Given the description of an element on the screen output the (x, y) to click on. 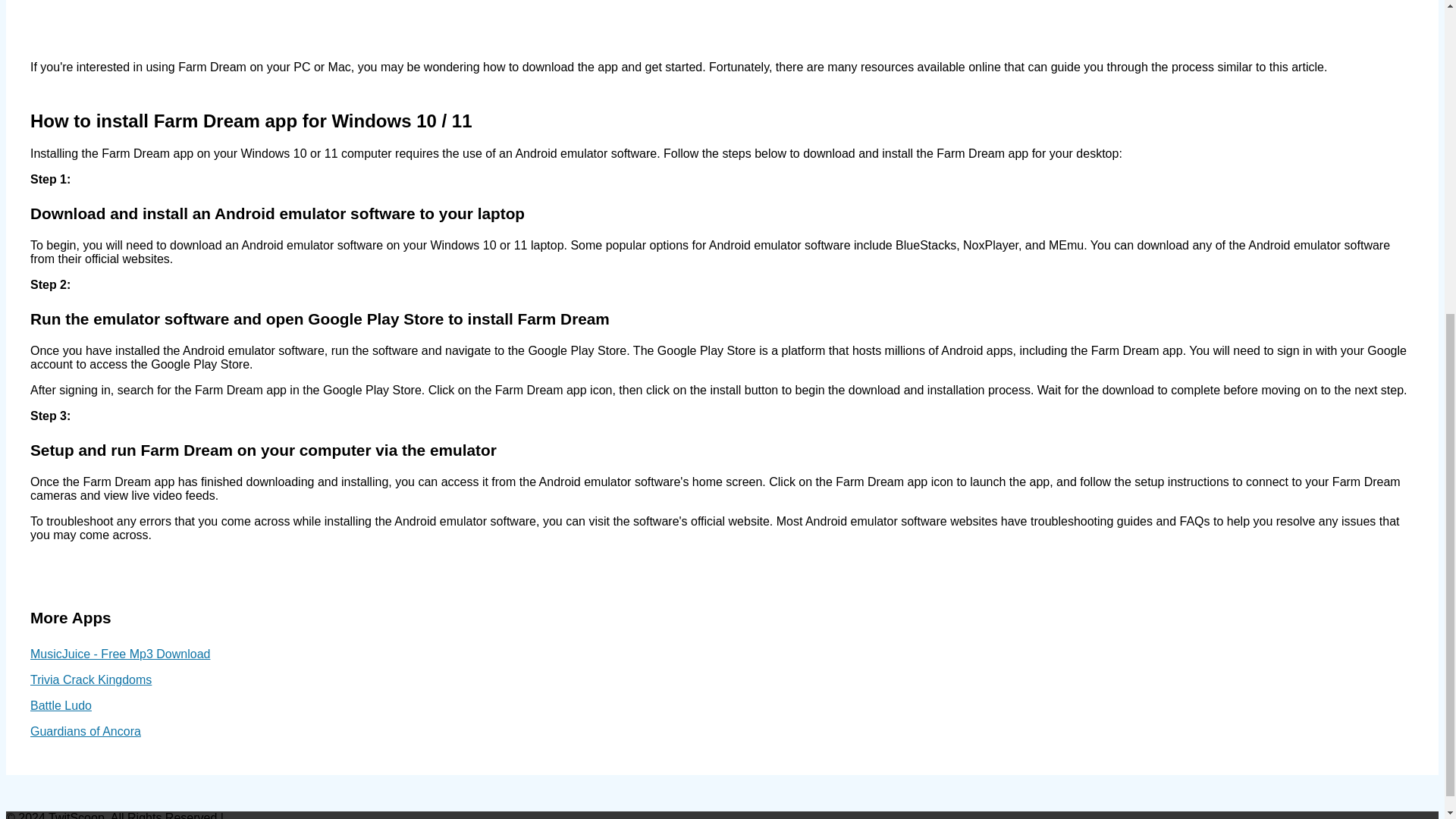
Trivia Crack Kingdoms (90, 679)
Guardians of Ancora (85, 730)
MusicJuice - Free Mp3 Download (119, 653)
Battle Ludo (60, 705)
